Given the description of an element on the screen output the (x, y) to click on. 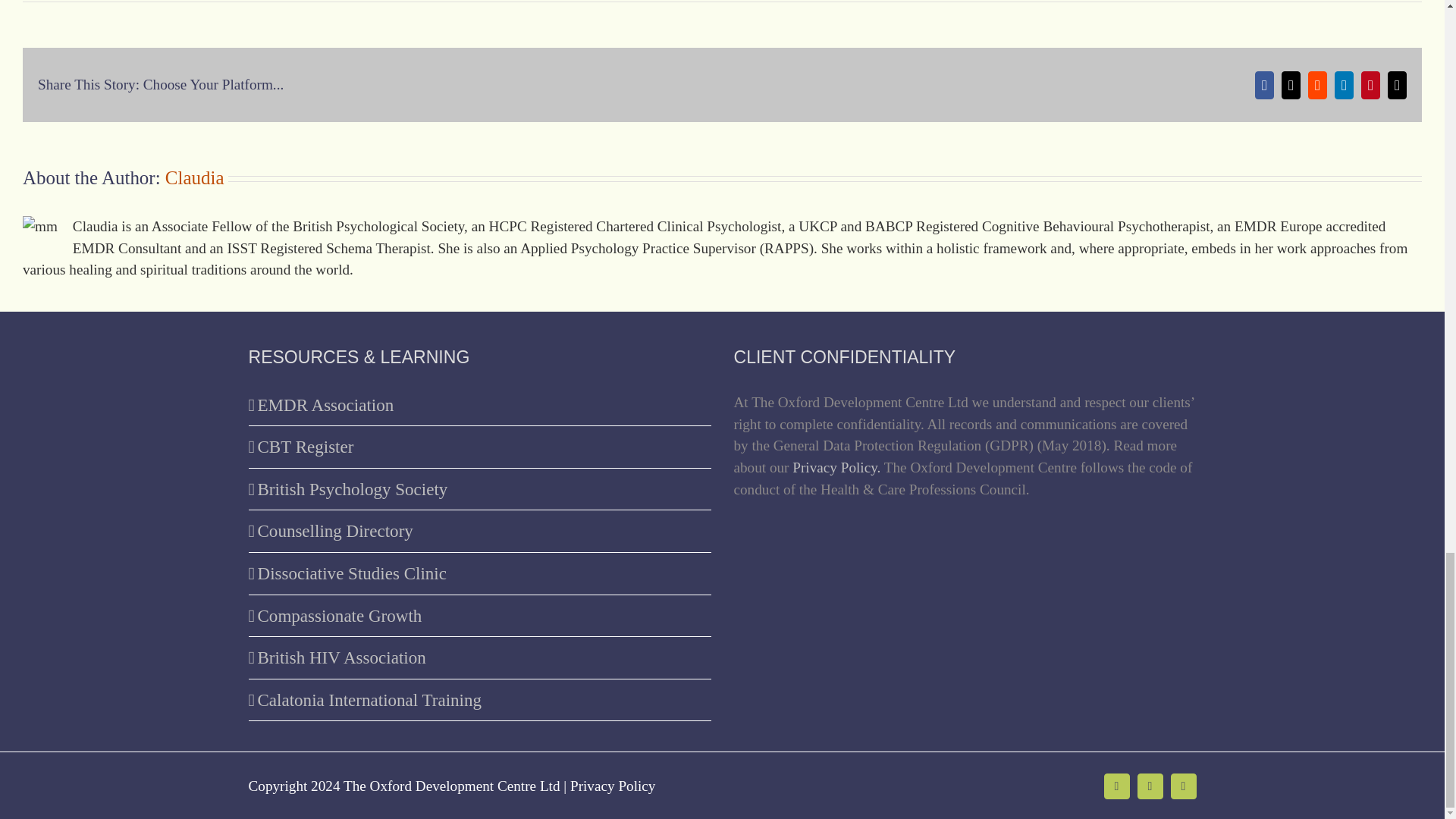
Email (1396, 85)
X (1290, 85)
Reddit (1316, 85)
Facebook (1116, 786)
Pinterest (1370, 85)
Facebook (1264, 85)
LinkedIn (1344, 85)
X (1150, 786)
Posts by Claudia (194, 177)
LinkedIn (1183, 786)
